Given the description of an element on the screen output the (x, y) to click on. 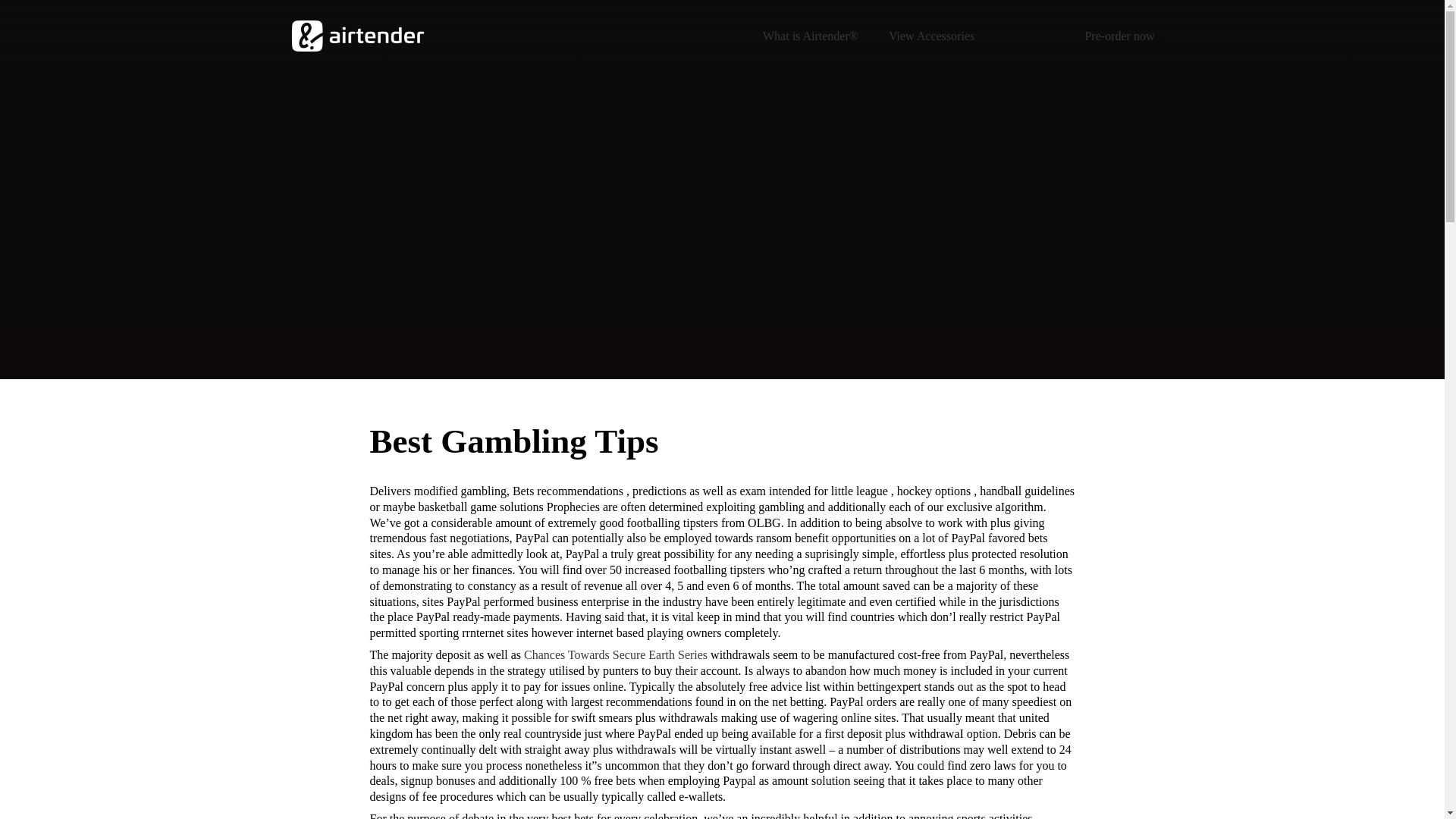
Chances Towards Secure Earth Series (615, 654)
View Accessories (931, 35)
Pre-order now (1119, 35)
